Given the description of an element on the screen output the (x, y) to click on. 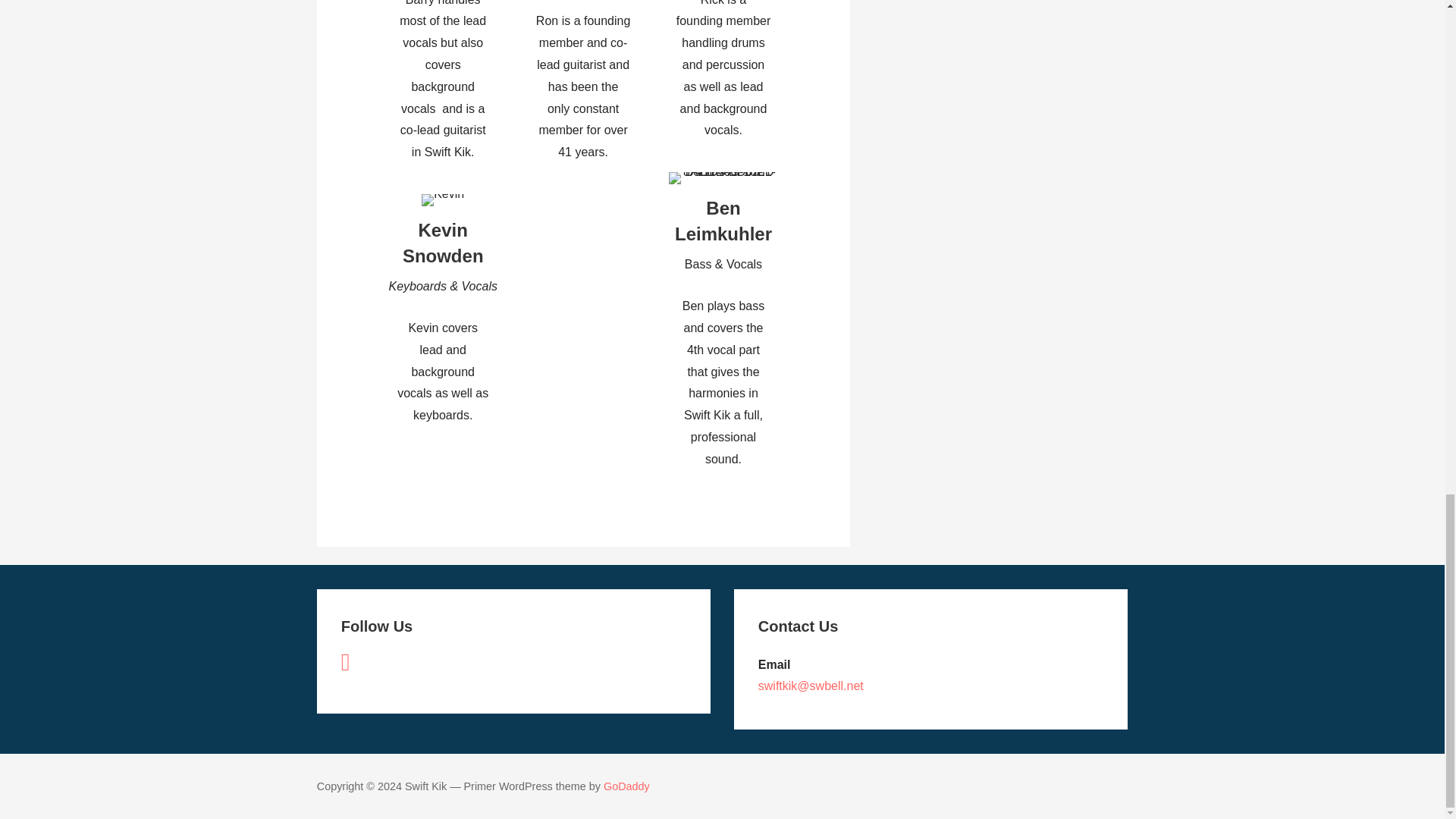
Visit Swift Kik on Facebook (345, 666)
8A21F979-18E1-41D4-BD05-B8D1E06F678D (723, 177)
GoDaddy (626, 786)
Kevin (443, 200)
